Given the description of an element on the screen output the (x, y) to click on. 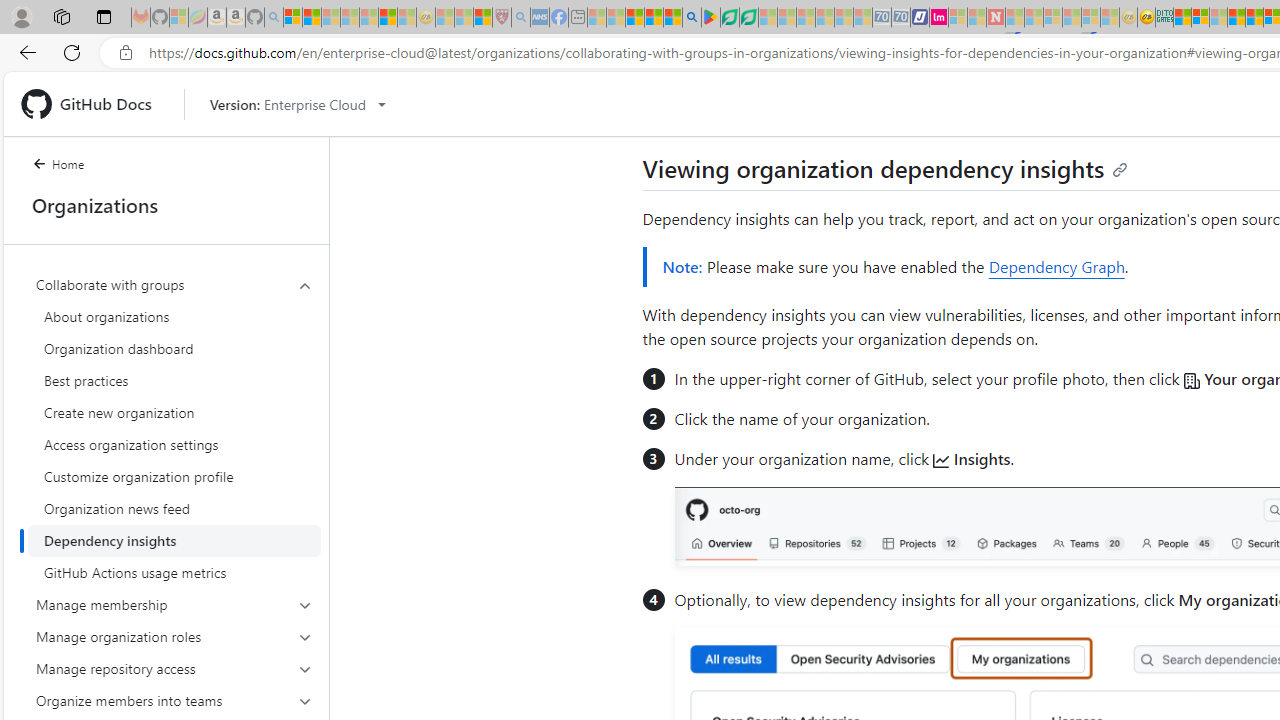
Create new organization (174, 412)
Best practices (174, 380)
Customize organization profile (174, 476)
GitHub Actions usage metrics (174, 572)
Viewing organization dependency insights (885, 167)
Setting up a trial of GitHub Enterprise Cloud (824, 100)
